Given the description of an element on the screen output the (x, y) to click on. 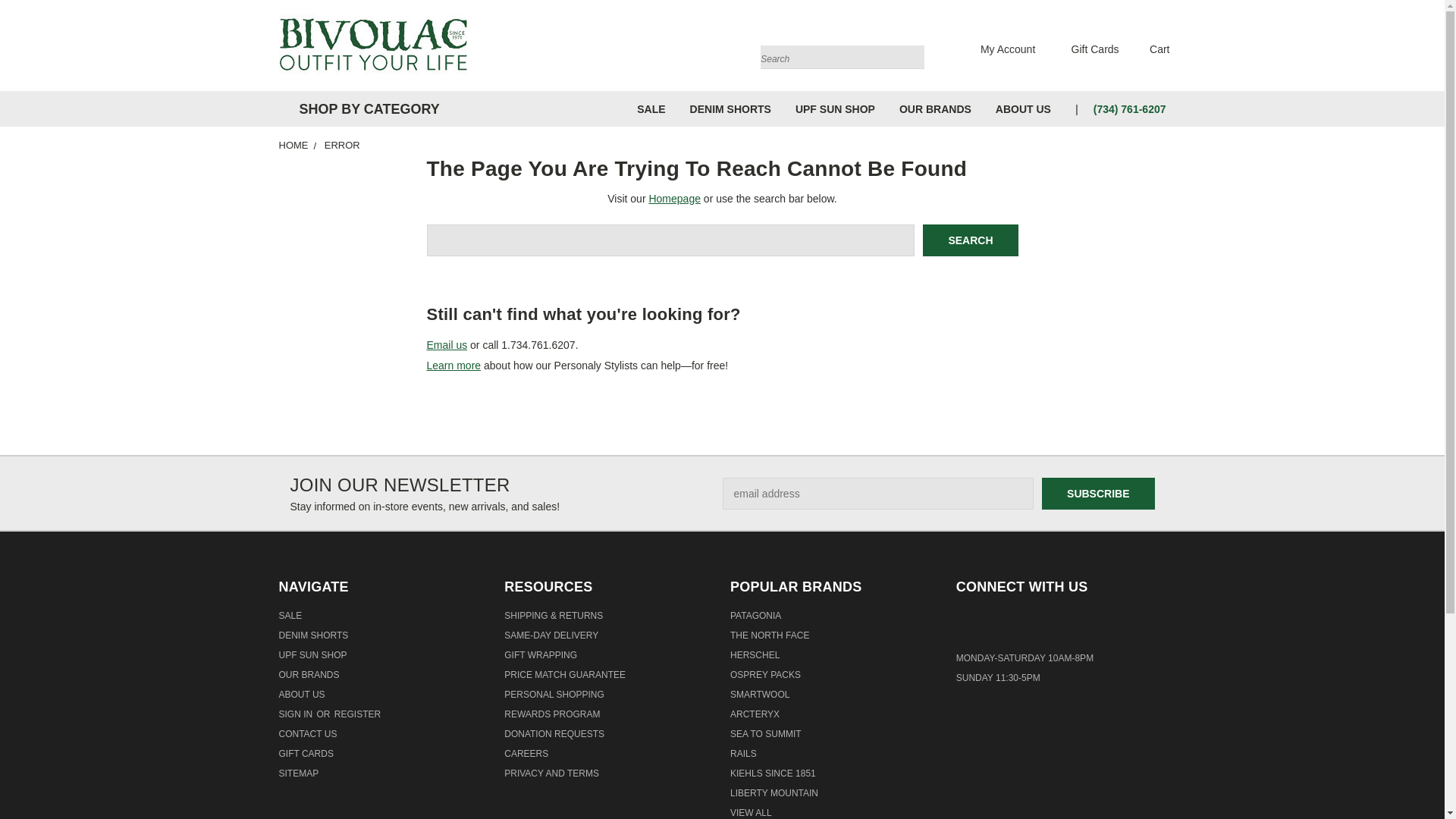
 My Account (998, 48)
Bivouac Ann Arbor (373, 45)
 Gift Cards (1085, 48)
User Toolbox (998, 48)
Search (970, 240)
SHOP BY CATEGORY (365, 109)
Subscribe (1098, 493)
 Cart (1150, 48)
Submit Search (912, 55)
Gift Certificates (1085, 48)
